Given the description of an element on the screen output the (x, y) to click on. 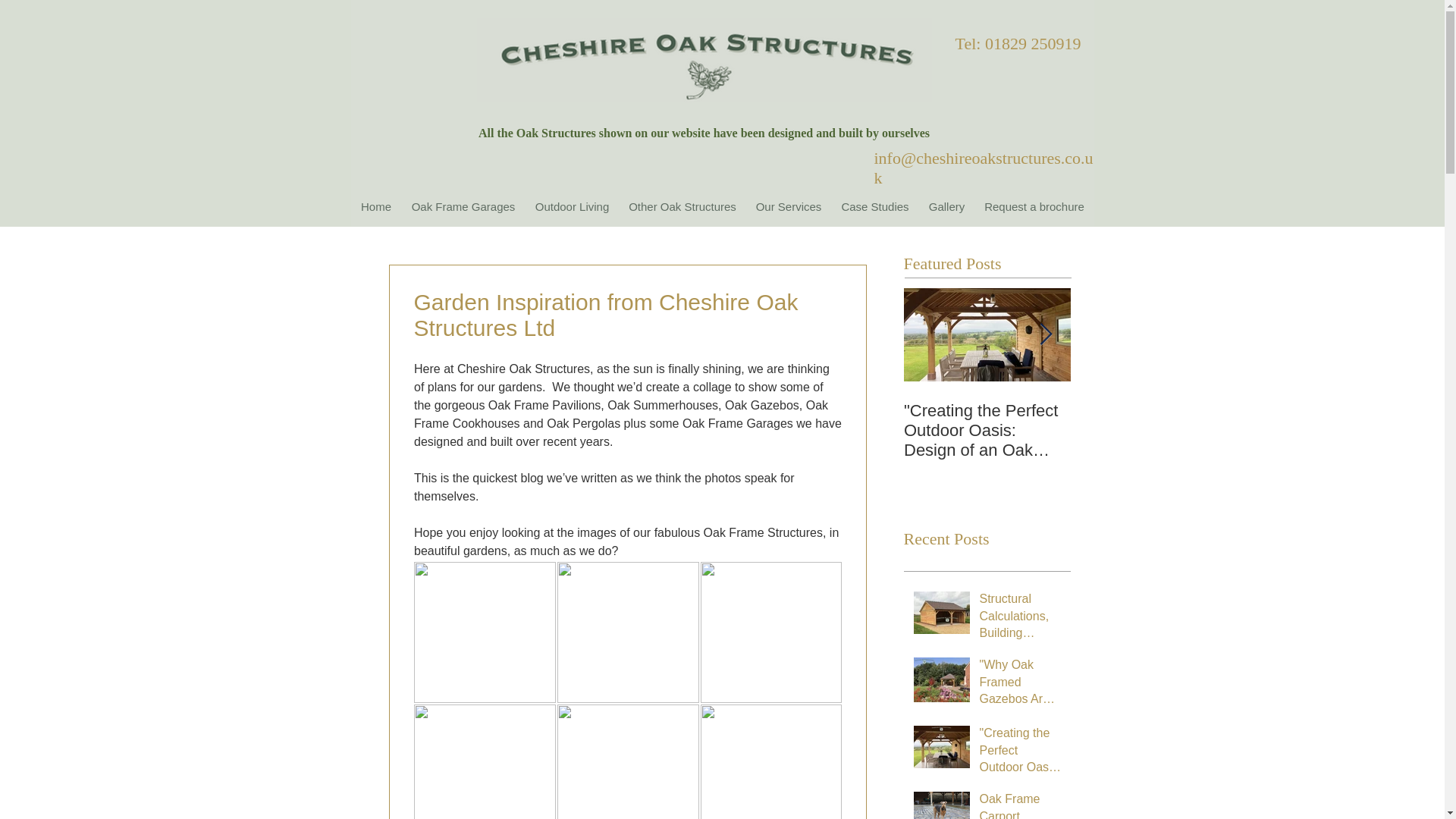
Case Studies (874, 207)
Gallery (946, 207)
Home (375, 207)
Request a brochure (1034, 207)
